Given the description of an element on the screen output the (x, y) to click on. 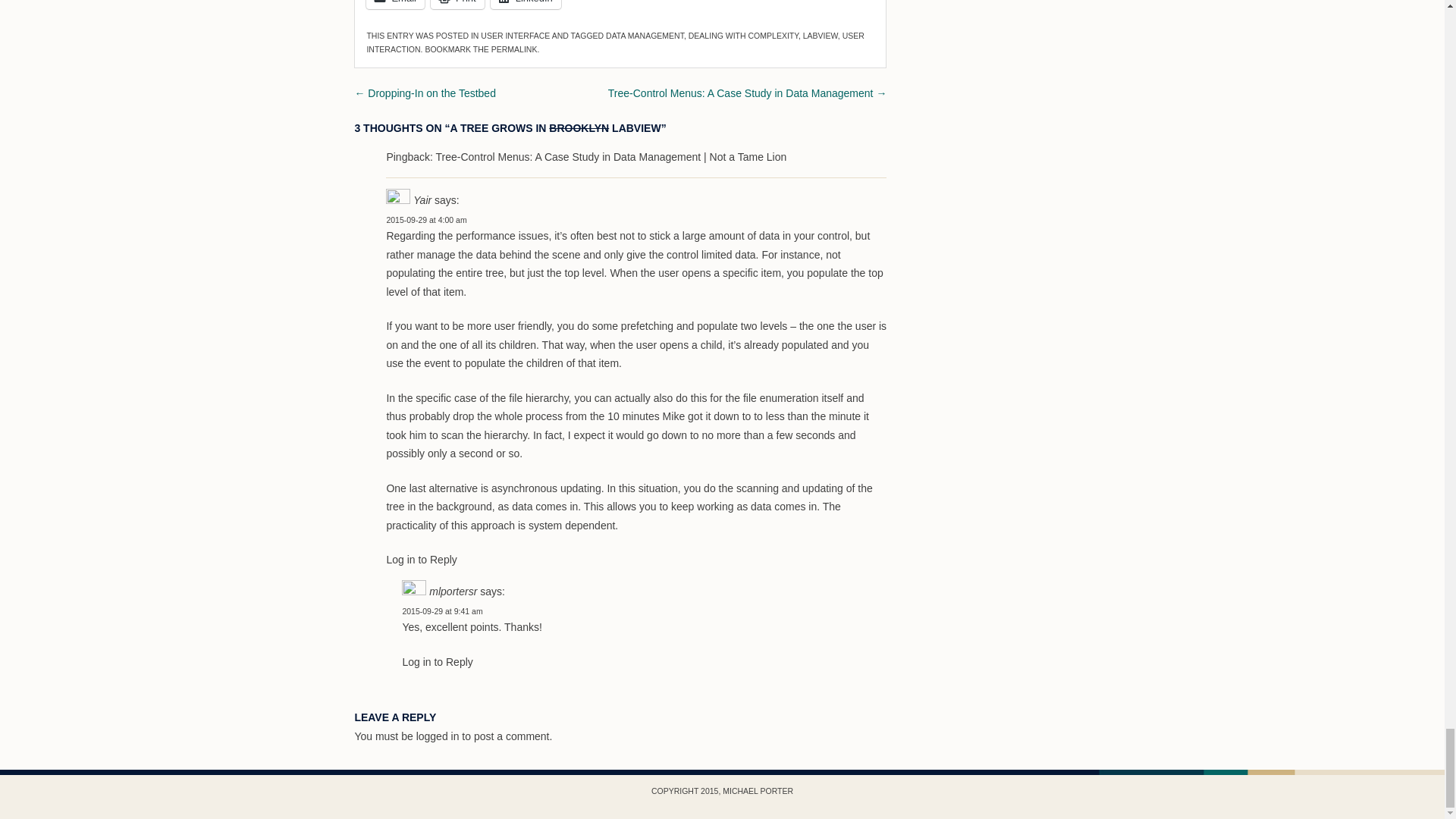
DEALING WITH COMPLEXITY (742, 35)
Print (457, 4)
logged in (438, 736)
2015-09-29 at 4:00 am (425, 219)
Click to email a link to a friend (395, 4)
Email (395, 4)
2015-09-29 at 9:41 am (441, 610)
Click to share on LinkedIn (525, 4)
USER INTERFACE (515, 35)
LinkedIn (525, 4)
PERMALINK (514, 49)
Log in to Reply (421, 559)
Click to print (457, 4)
USER INTERACTION (614, 42)
LABVIEW (820, 35)
